Given the description of an element on the screen output the (x, y) to click on. 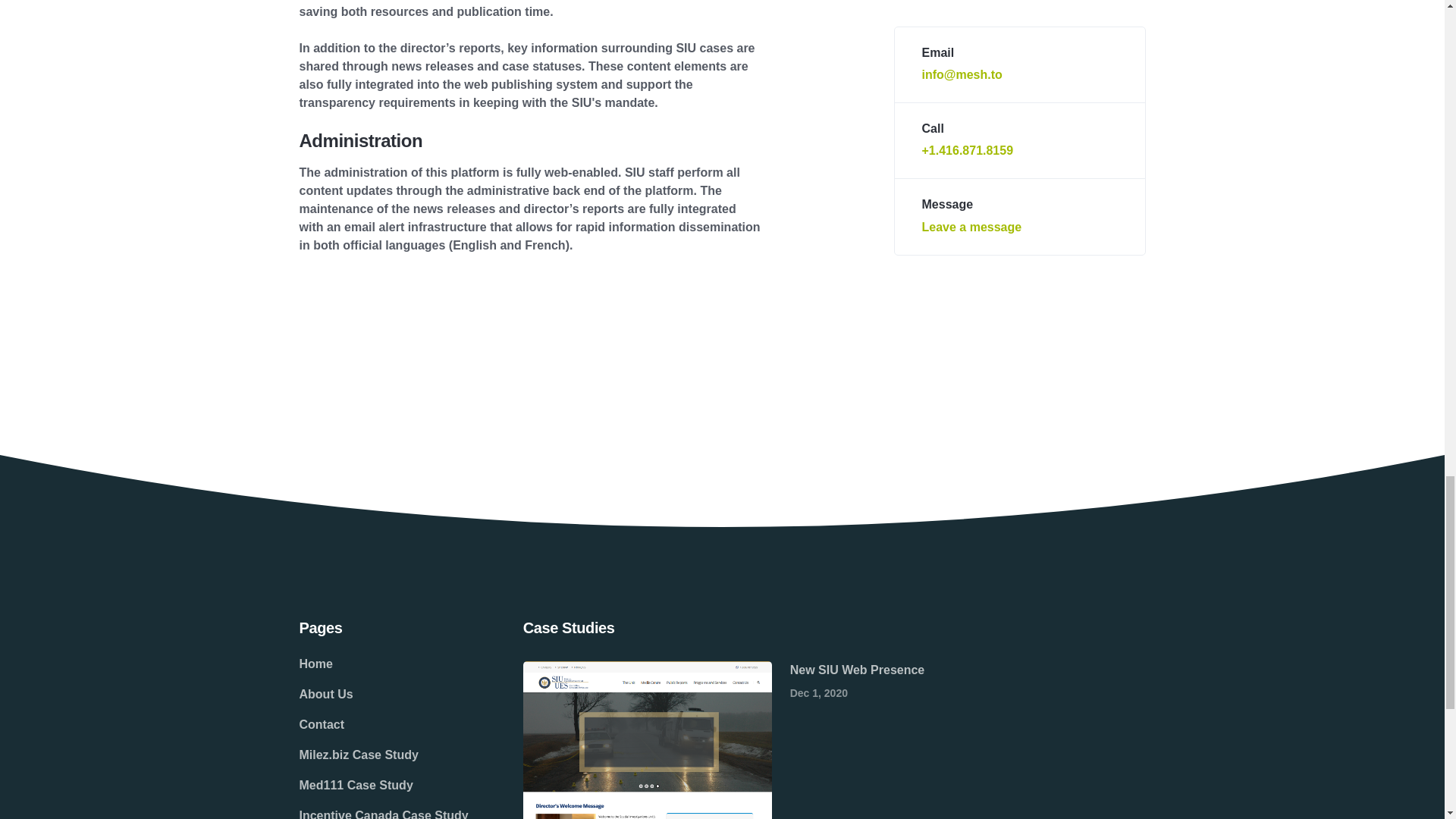
Home (382, 664)
Med111 Case Study (382, 785)
About Us (382, 694)
Contact (382, 725)
Milez.biz Case Study (382, 755)
Incentive Canada Case Study (382, 809)
New SIU Web Presence (857, 669)
